Given the description of an element on the screen output the (x, y) to click on. 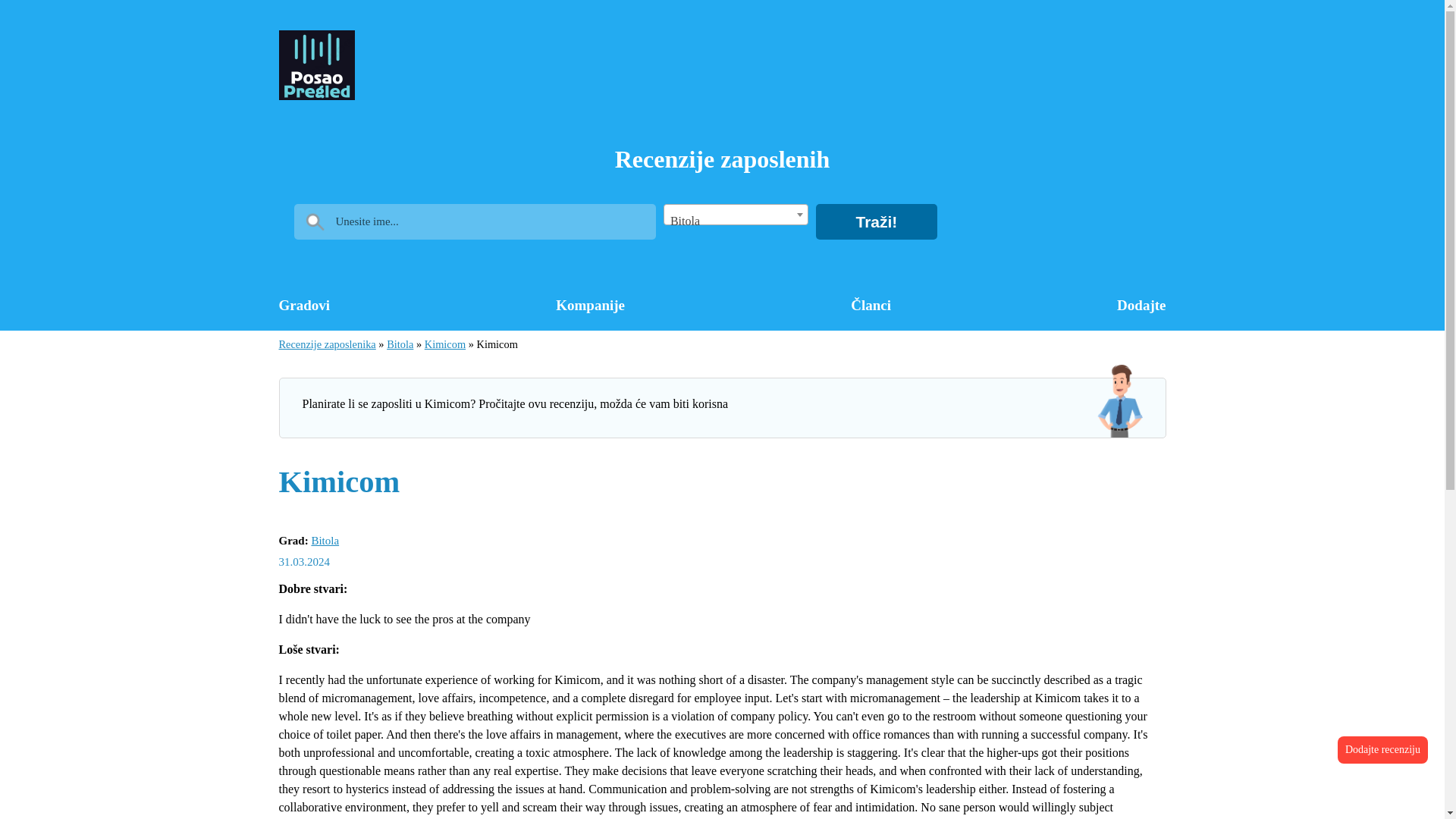
Dodajte recenziju (1383, 749)
Dodajte (1141, 305)
Gradovi (304, 305)
Bitola (325, 540)
Bitola (735, 220)
Recenzije zaposlenika (327, 344)
Bitola (400, 344)
Kompanije (590, 305)
Kimicom (445, 344)
